Given the description of an element on the screen output the (x, y) to click on. 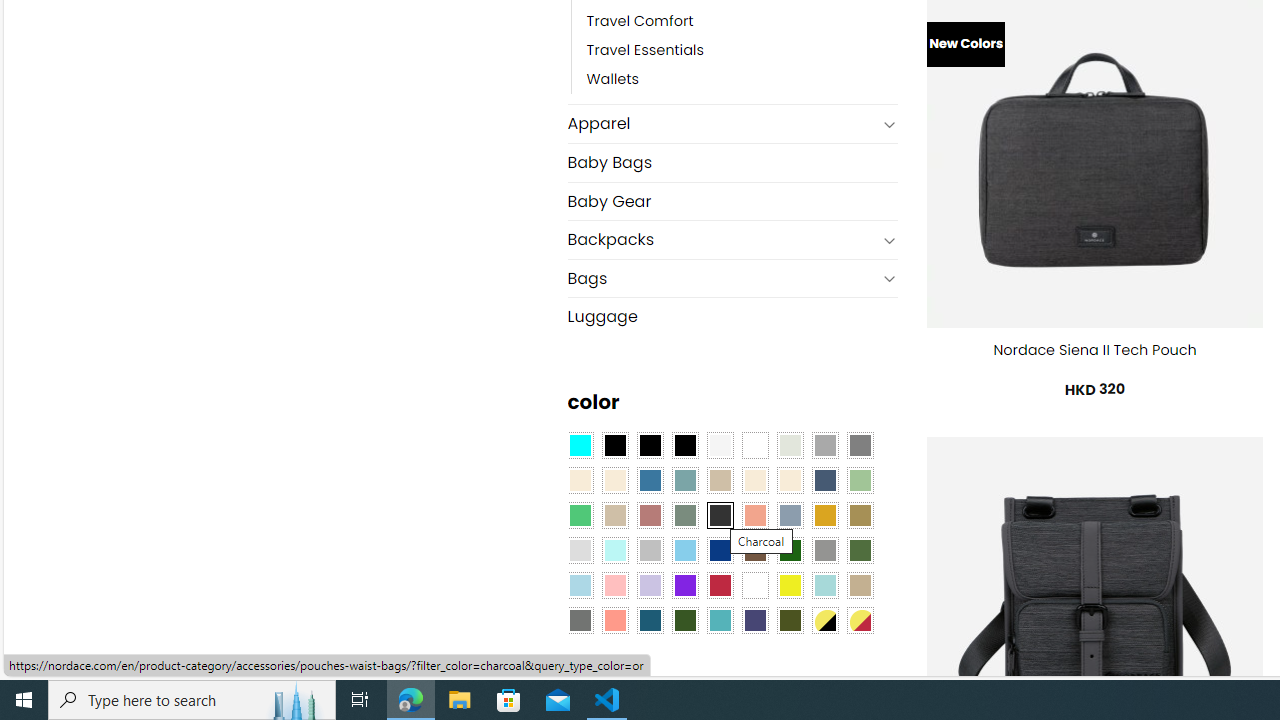
Blue Sage (684, 480)
Ash Gray (789, 444)
Yellow (789, 584)
Pink (614, 584)
Black (650, 444)
Travel Essentials (742, 51)
Silver (650, 550)
Purple (684, 584)
Dark Gray (824, 444)
Gray (824, 550)
Emerald Green (579, 514)
Dusty Blue (789, 514)
Luggage (732, 317)
Mint (614, 550)
Cream (789, 480)
